Given the description of an element on the screen output the (x, y) to click on. 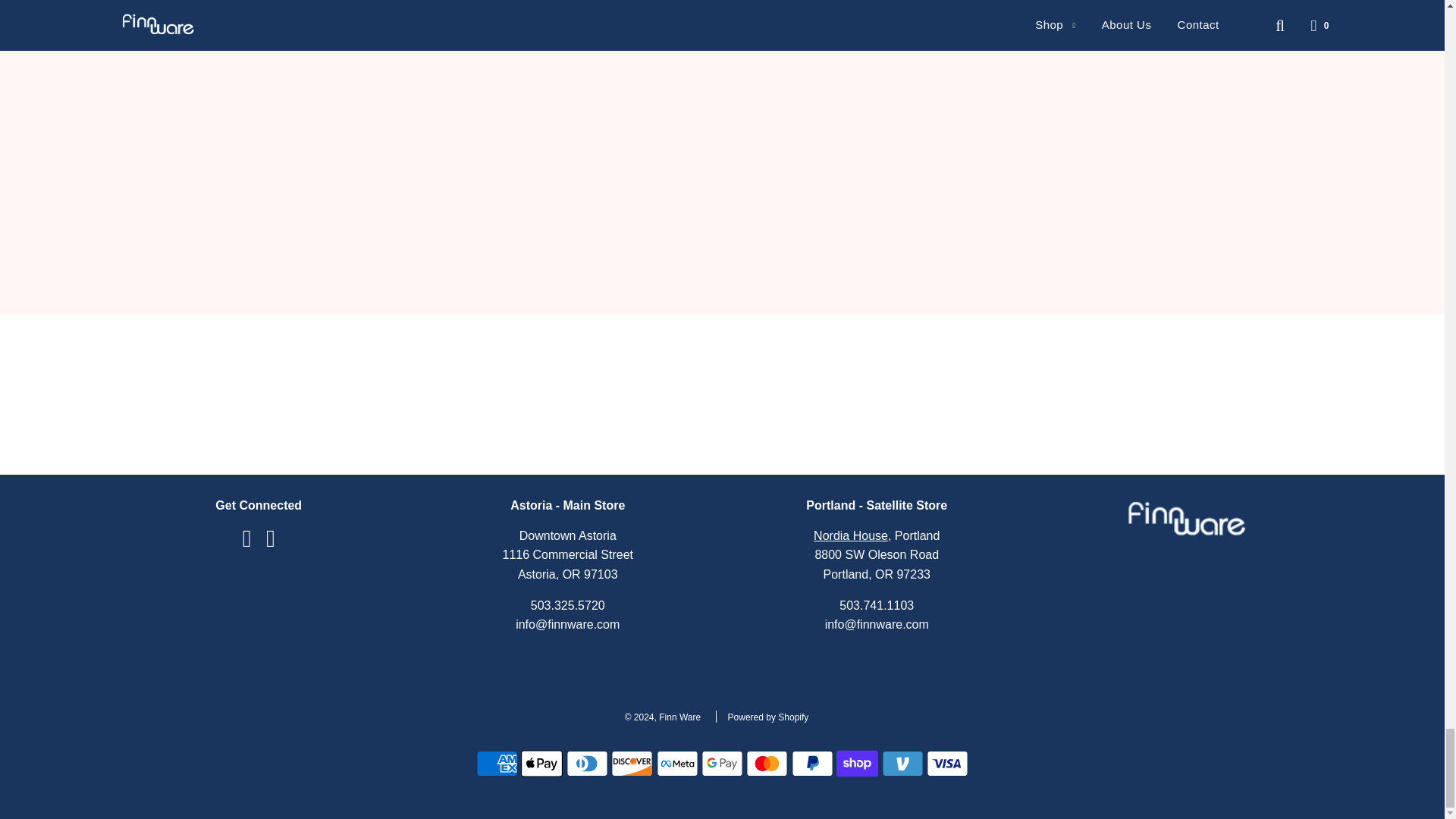
Venmo (902, 763)
PayPal (812, 763)
Google Pay (721, 763)
Shop Pay (856, 763)
Visa (947, 763)
Meta Pay (677, 763)
American Express (497, 763)
Discover (631, 763)
Mastercard (766, 763)
Diners Club (587, 763)
